Given the description of an element on the screen output the (x, y) to click on. 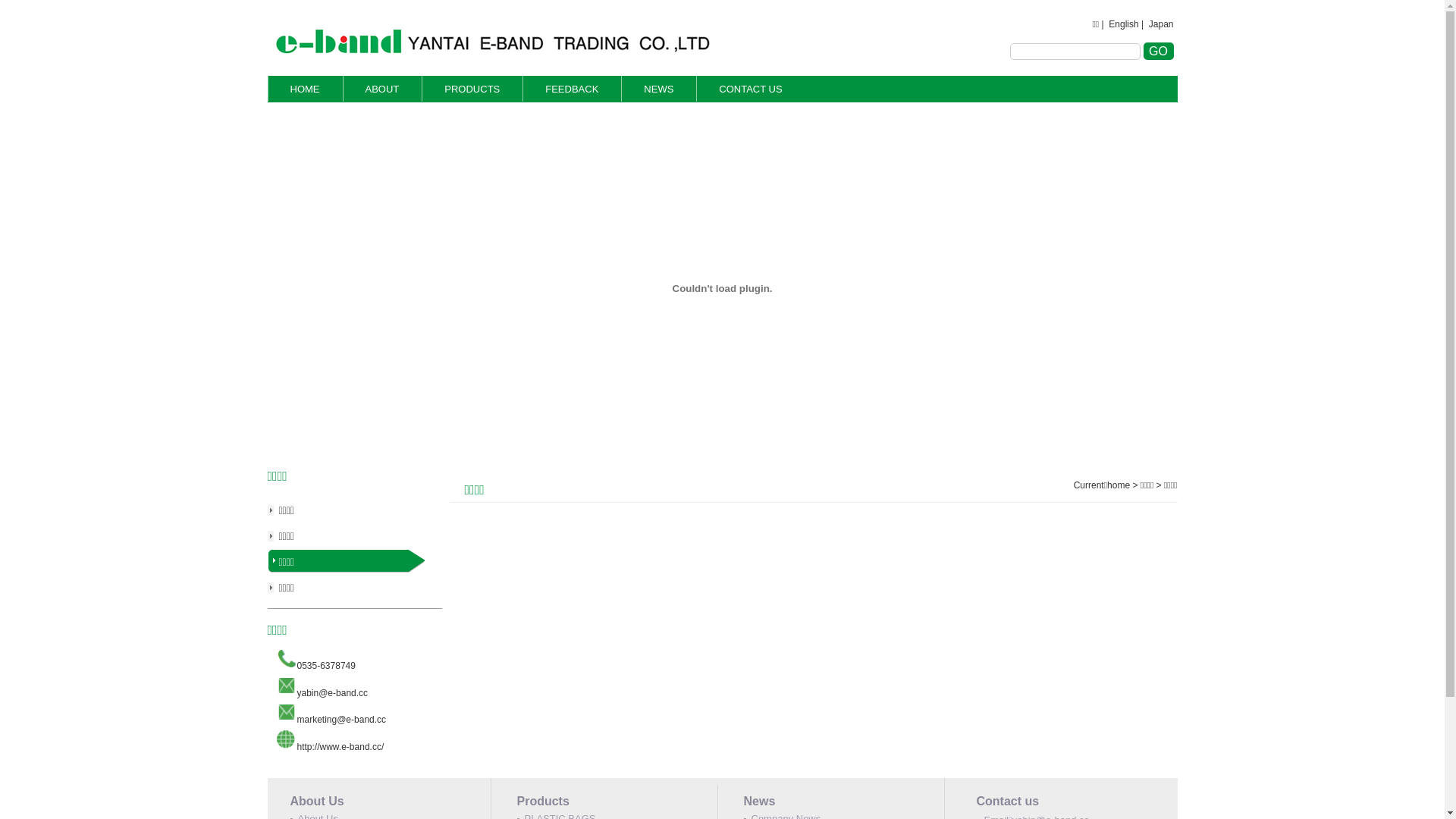
home Element type: text (1118, 485)
http://www.e-band.cc/ Element type: text (340, 746)
FEEDBACK Element type: text (571, 88)
PRODUCTS Element type: text (471, 88)
English Element type: text (1123, 23)
ABOUT Element type: text (382, 88)
NEWS Element type: text (658, 88)
GO Element type: text (1158, 50)
Japan Element type: text (1160, 23)
yabin@e-band.cc Element type: text (332, 692)
marketing@e-band.cc Element type: text (341, 719)
CONTACT US Element type: text (750, 88)
HOME Element type: text (304, 88)
